Given the description of an element on the screen output the (x, y) to click on. 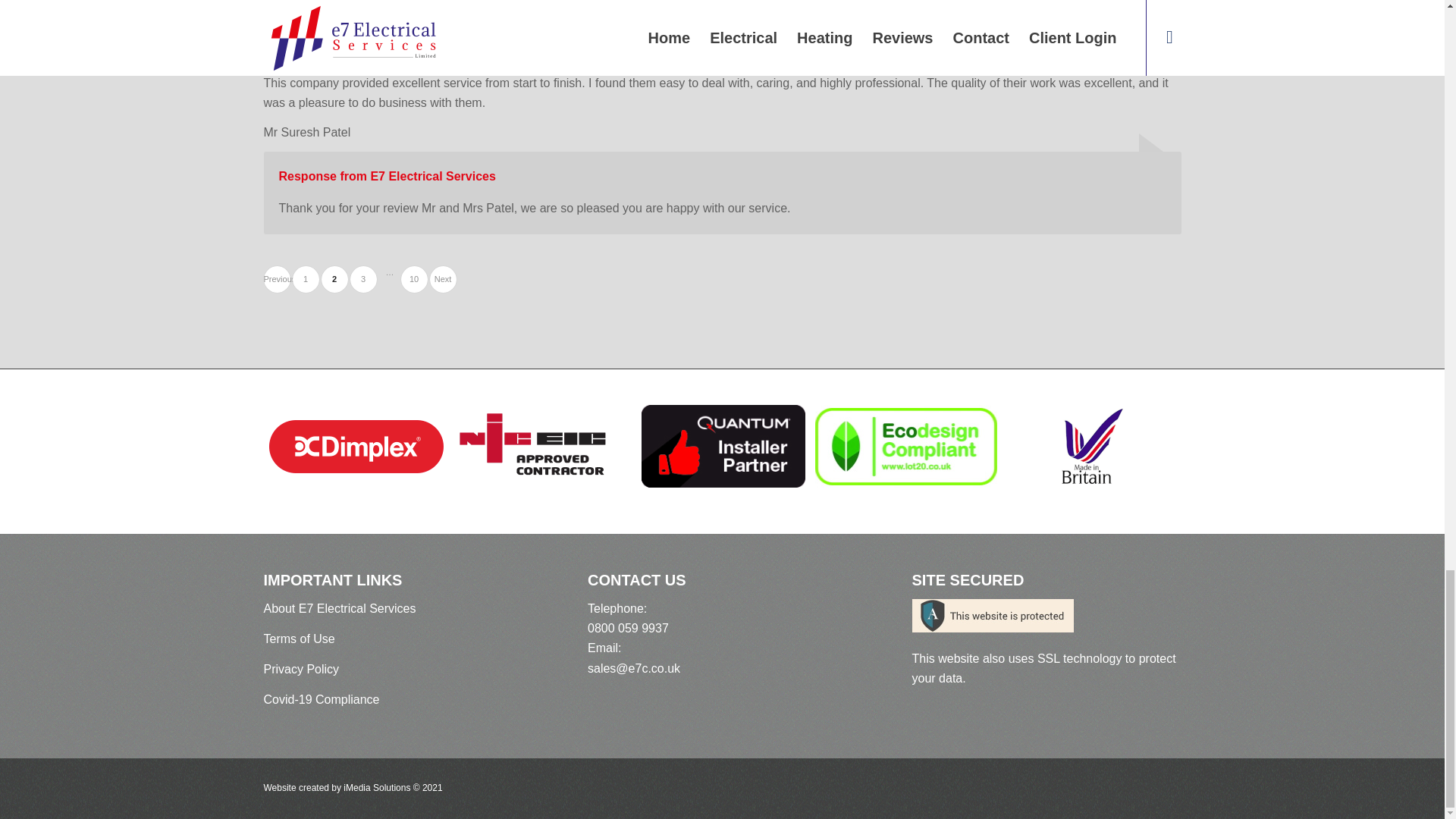
Covid-19 Compliance (321, 698)
Previous (413, 279)
Privacy Policy (363, 279)
Terms of Use (276, 279)
iMedia Solutions (301, 668)
Next (298, 638)
About E7 Electrical Services (305, 279)
